Given the description of an element on the screen output the (x, y) to click on. 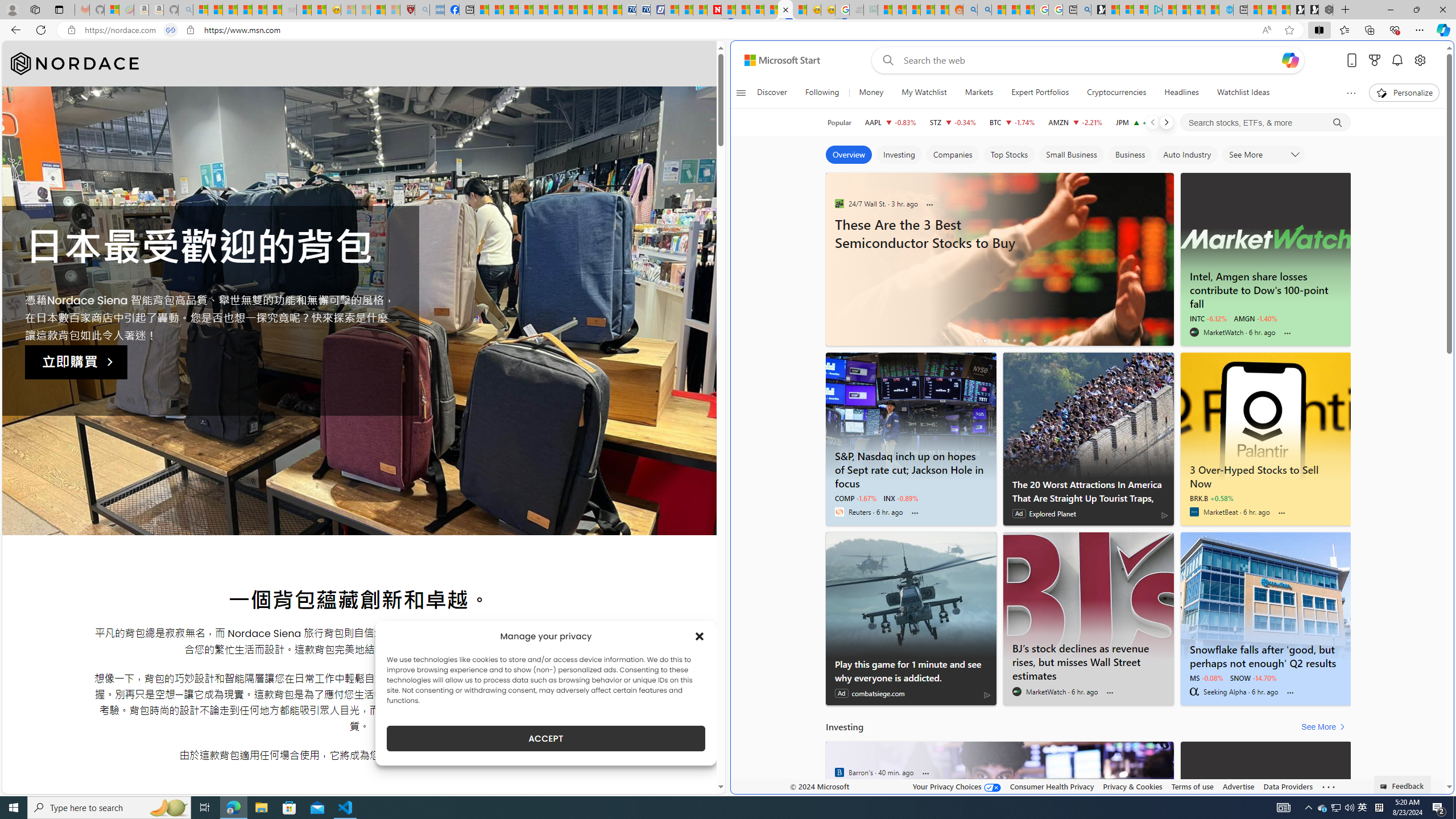
STZ CONSTELLATION BRANDS, INC. decrease 243.92 -0.82 -0.34% (952, 122)
AdChoices (987, 694)
Headlines (1181, 92)
Reuters (839, 511)
AdChoices (987, 694)
MS -0.08% (1206, 677)
Combat Siege - Sleeping (288, 9)
Class: oneFooter_seeMore-DS-EntryPoint1-1 (1328, 786)
